Given the description of an element on the screen output the (x, y) to click on. 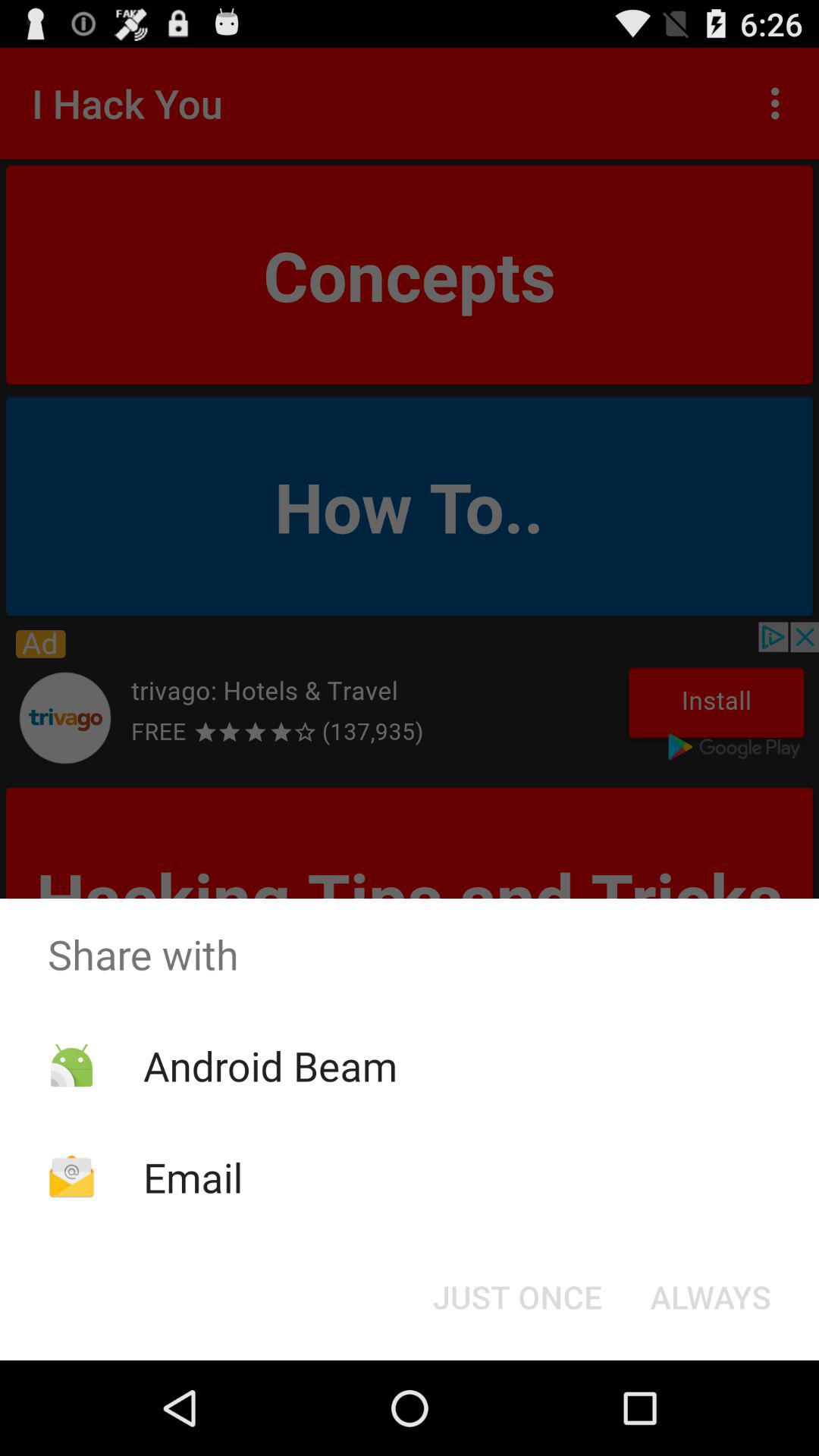
launch always at the bottom right corner (710, 1296)
